Given the description of an element on the screen output the (x, y) to click on. 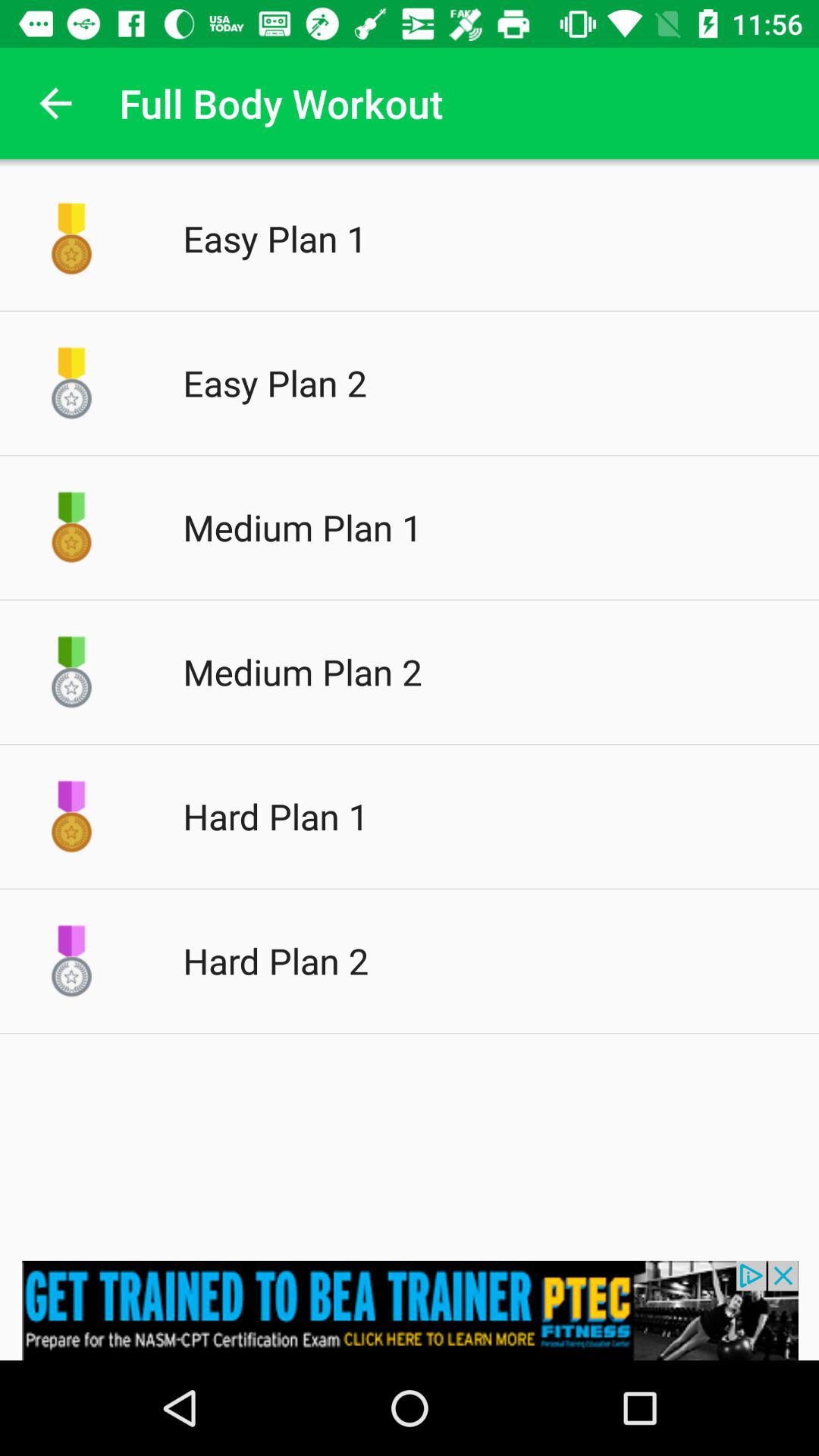
advertisement (409, 1310)
